Given the description of an element on the screen output the (x, y) to click on. 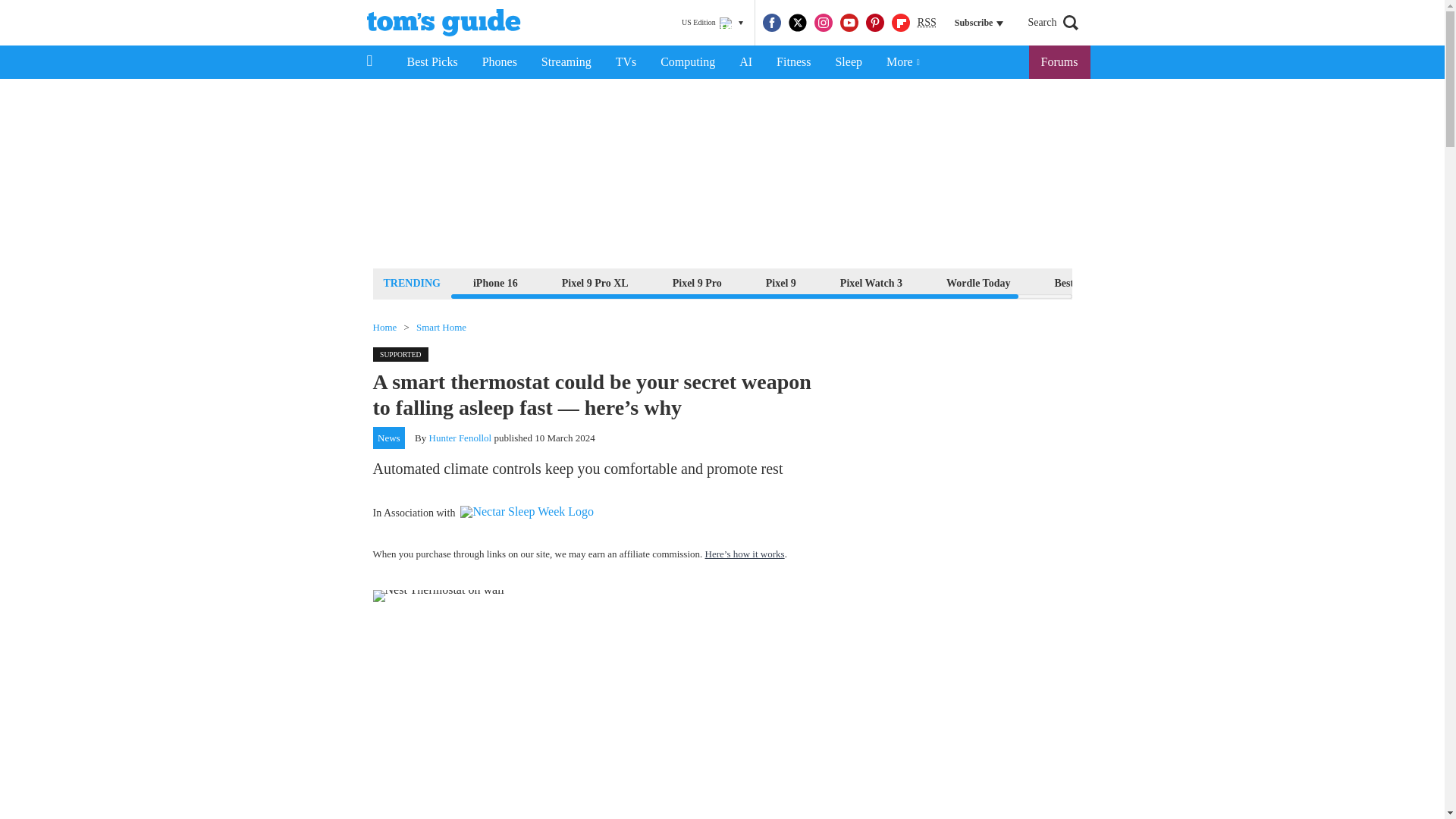
TVs (626, 61)
US Edition (712, 22)
RSS (926, 22)
Phones (499, 61)
Really Simple Syndication (926, 21)
AI (745, 61)
Streaming (566, 61)
Fitness (793, 61)
Sleep (848, 61)
Computing (686, 61)
